Given the description of an element on the screen output the (x, y) to click on. 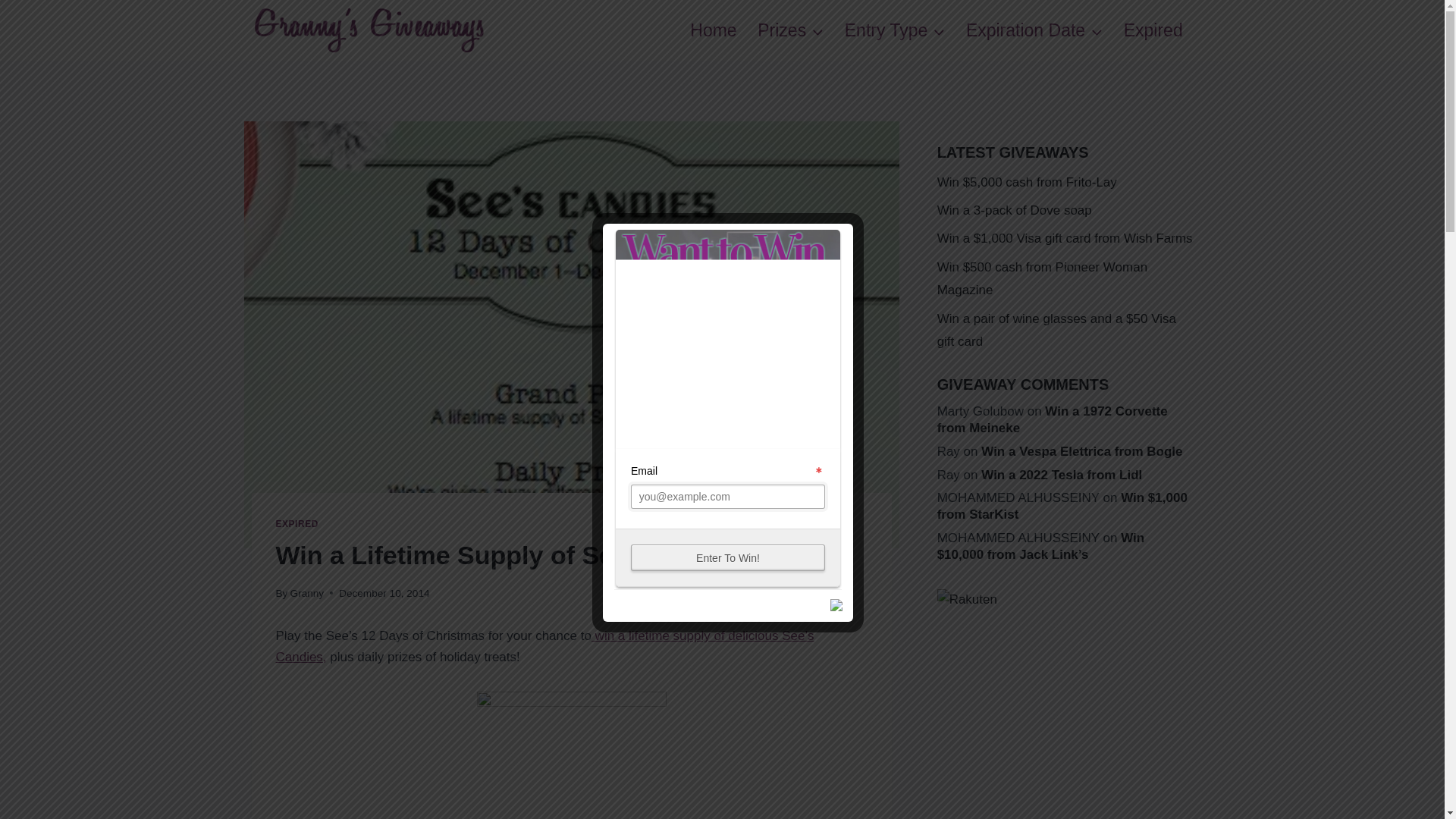
Expiration Date (1034, 29)
Entry Type (894, 29)
Prizes (790, 29)
Close (837, 606)
Home (712, 29)
Expired (1153, 29)
